Given the description of an element on the screen output the (x, y) to click on. 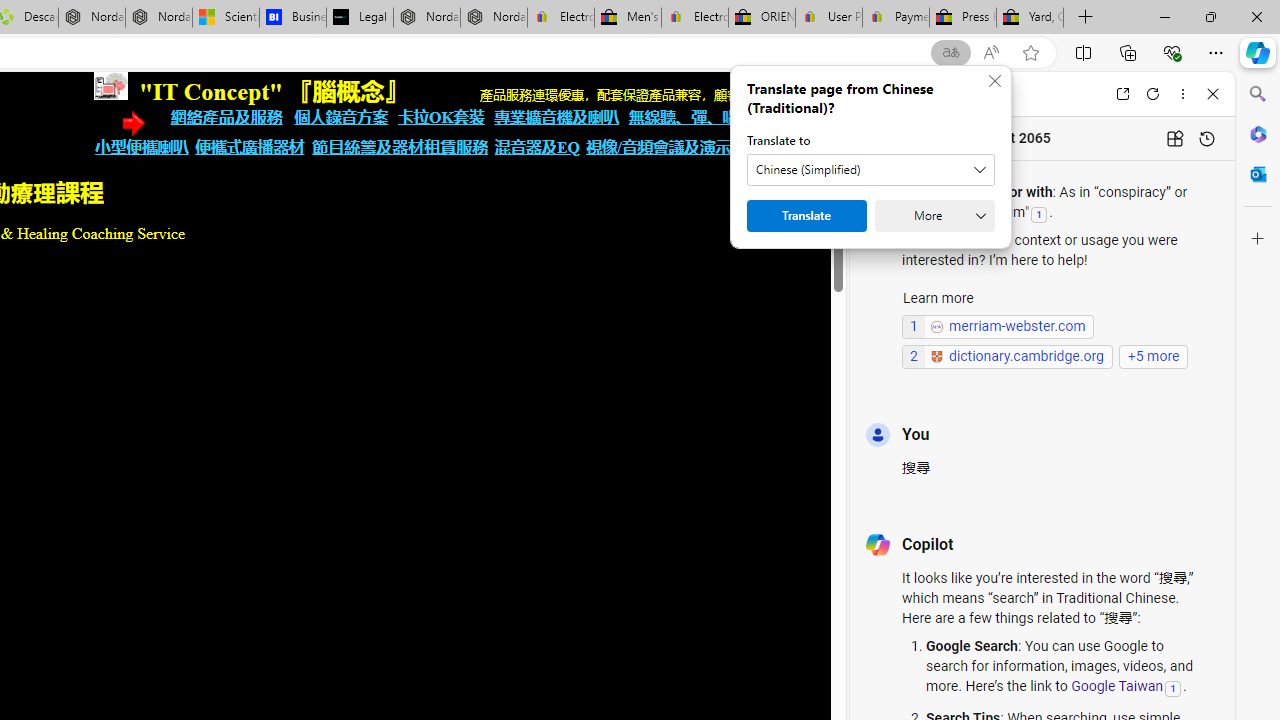
Translate (806, 215)
More (934, 215)
